Given the description of an element on the screen output the (x, y) to click on. 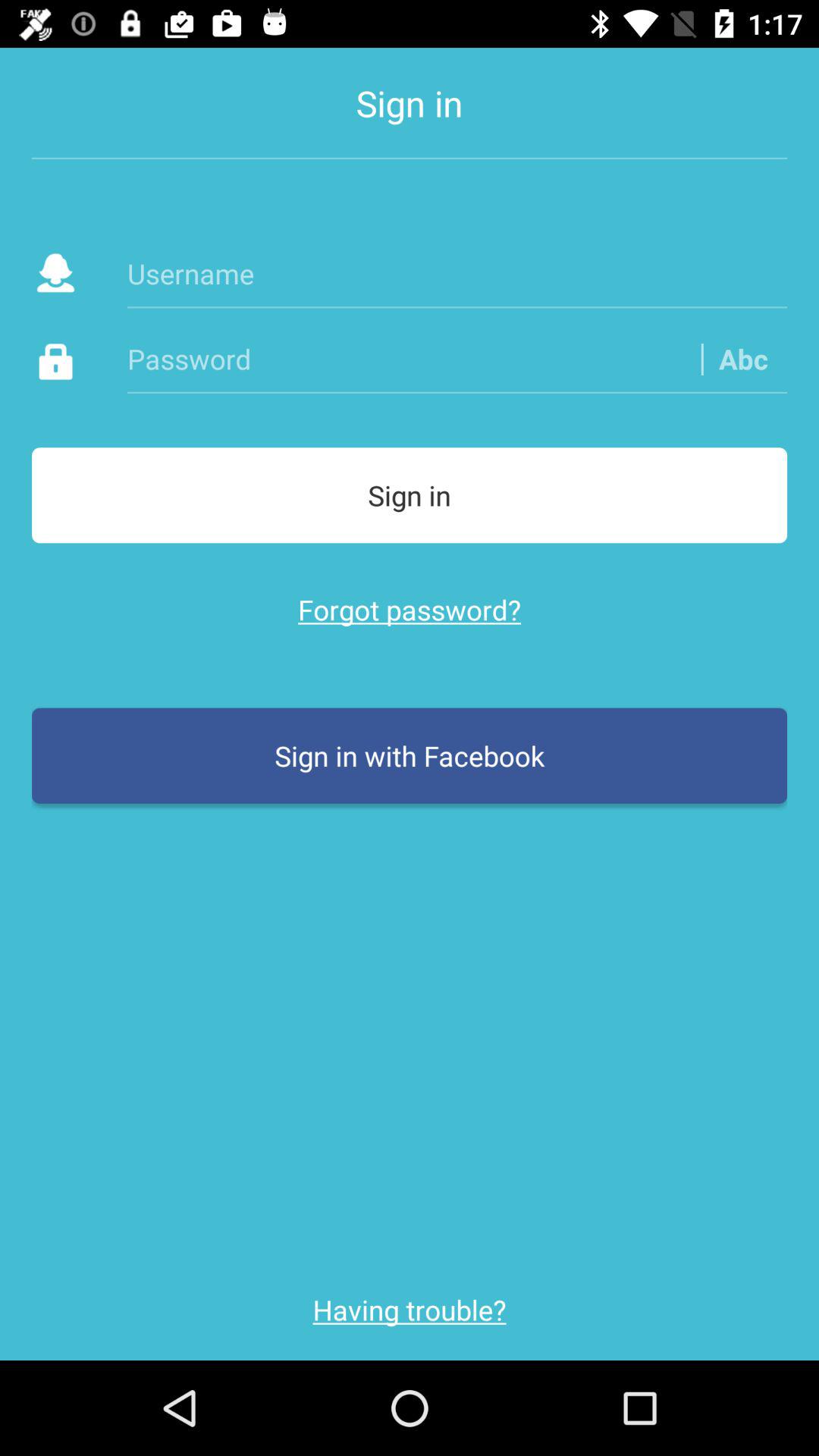
turn off forgot password? icon (409, 609)
